Given the description of an element on the screen output the (x, y) to click on. 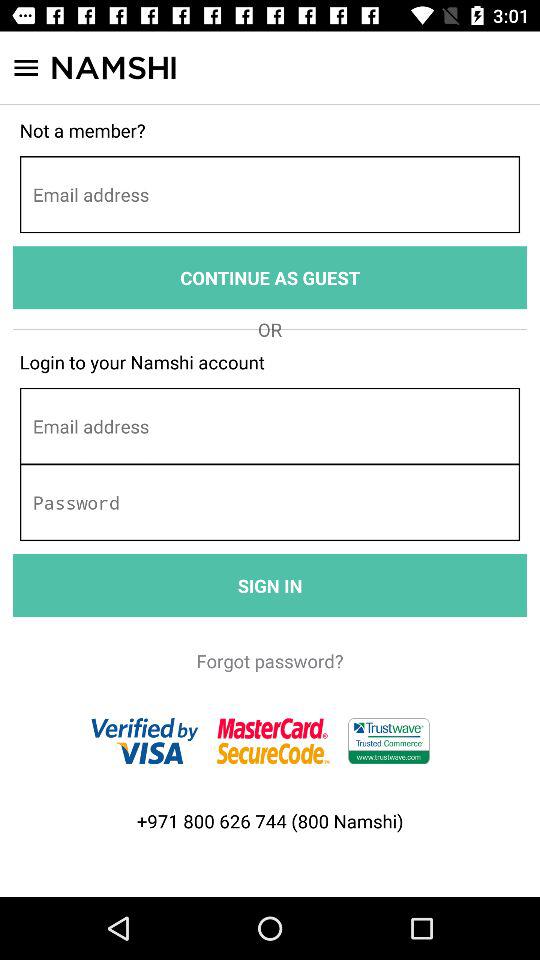
swipe until the sign in item (269, 585)
